Given the description of an element on the screen output the (x, y) to click on. 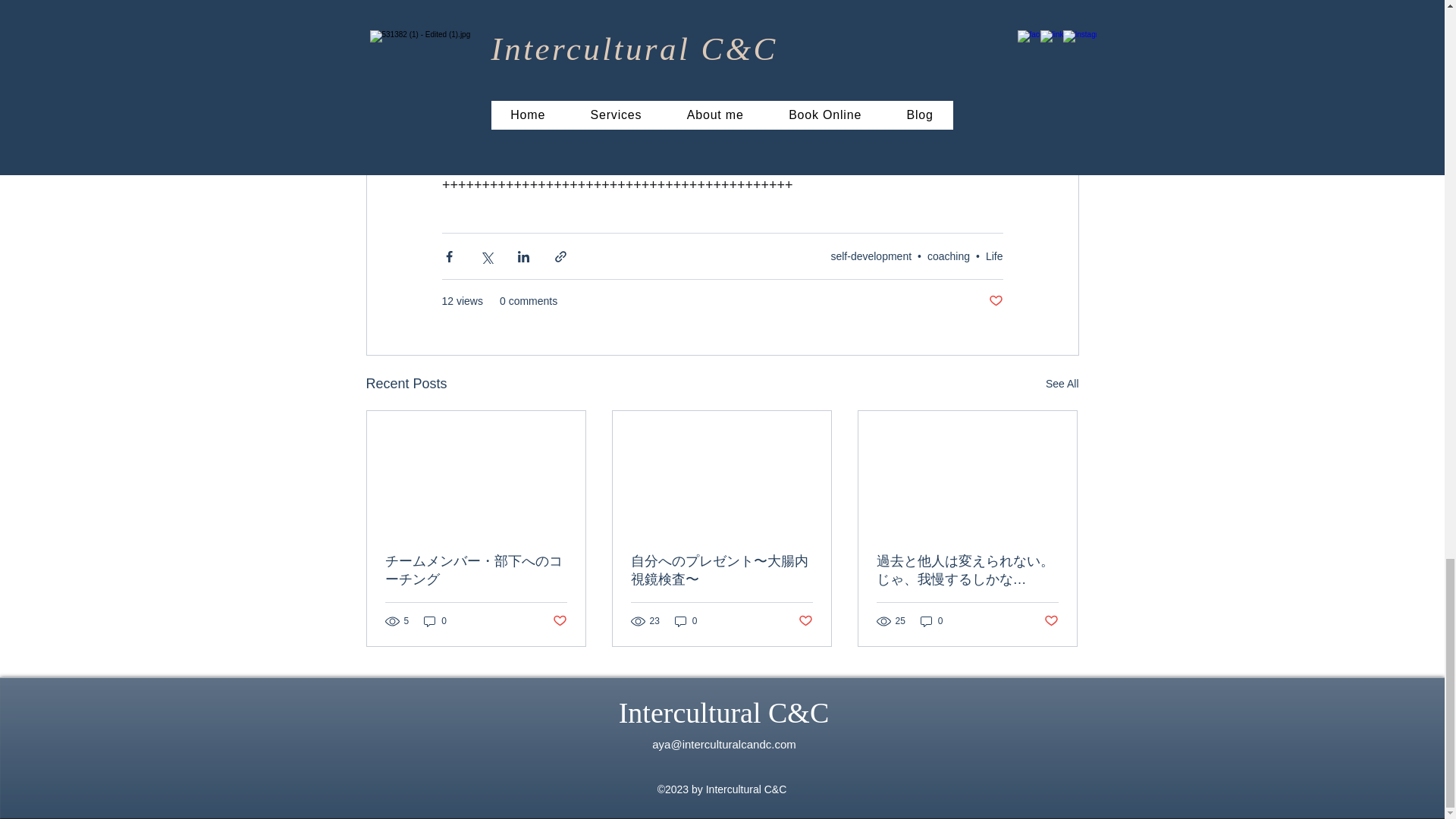
self-development (870, 256)
Life (994, 256)
coaching (948, 256)
